Given the description of an element on the screen output the (x, y) to click on. 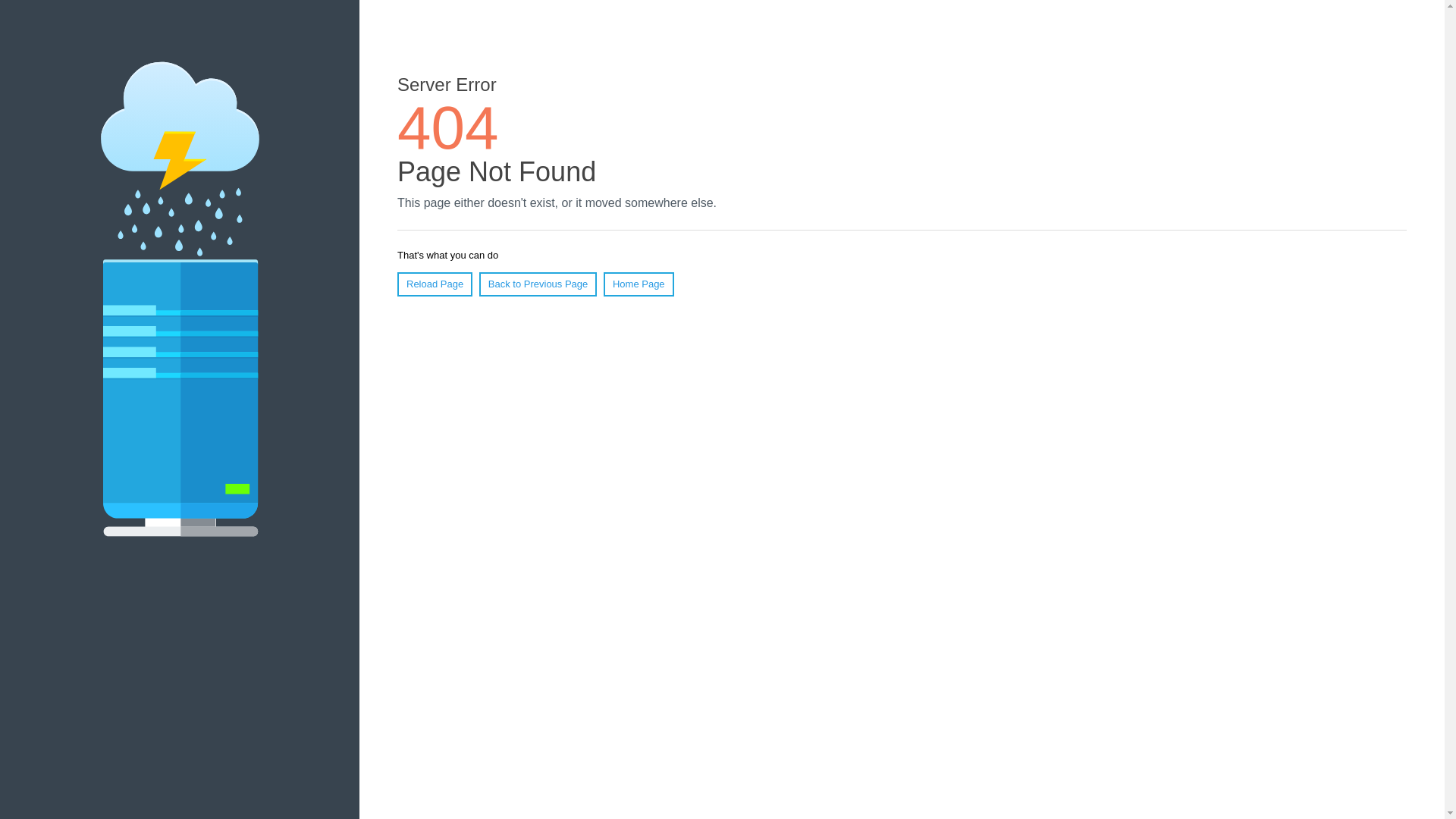
Back to Previous Page Element type: text (538, 284)
Reload Page Element type: text (434, 284)
Home Page Element type: text (638, 284)
